Given the description of an element on the screen output the (x, y) to click on. 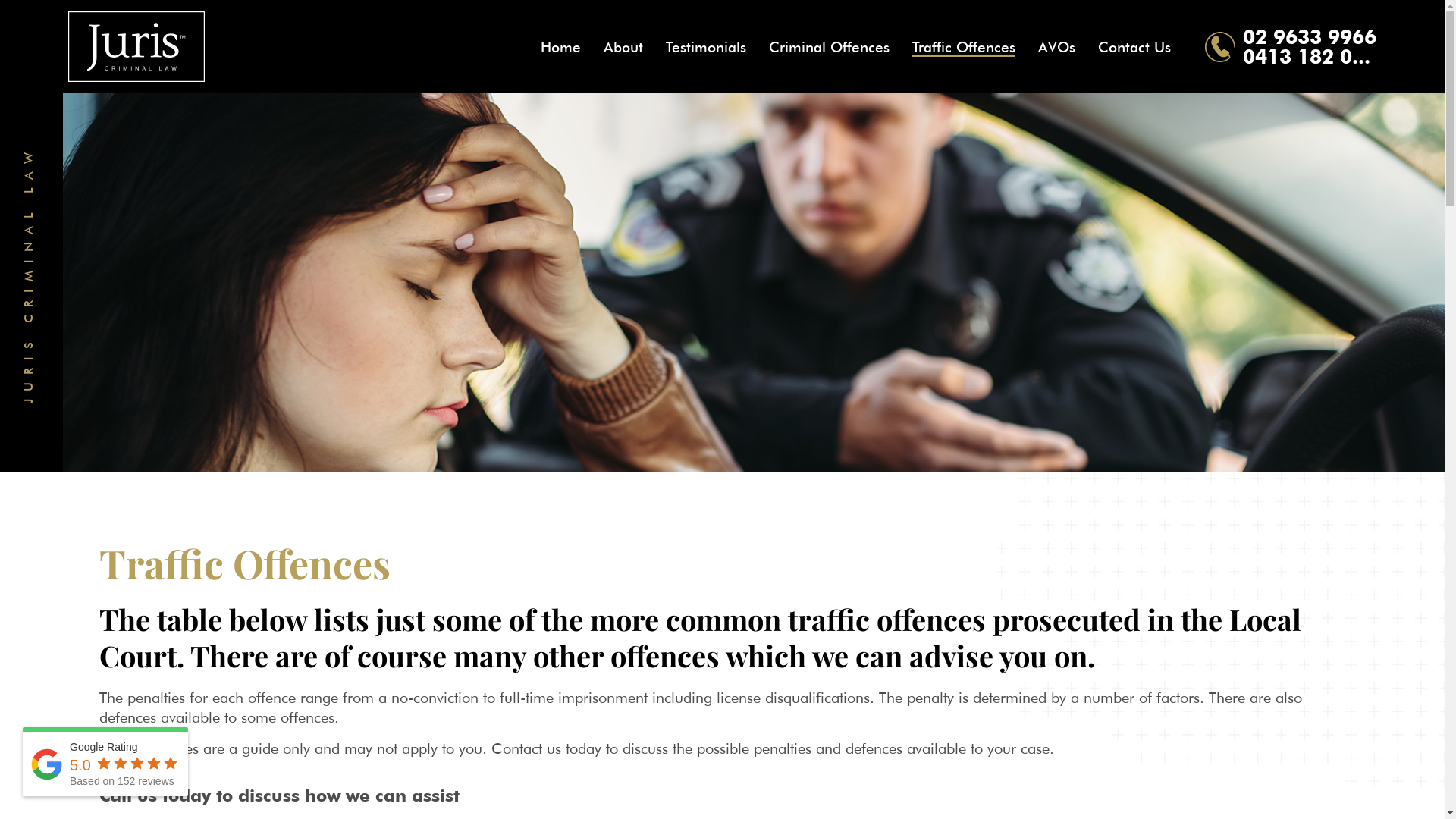
0413 182 0... Element type: text (1306, 56)
02 9633 9966 Element type: text (1309, 36)
Testimonials Element type: text (705, 46)
AVOs Element type: text (1056, 46)
Contact Us Element type: text (1134, 46)
Home Element type: text (560, 46)
Traffic Offences Element type: text (963, 46)
Criminal Offences Element type: text (828, 46)
About Element type: text (623, 46)
